Given the description of an element on the screen output the (x, y) to click on. 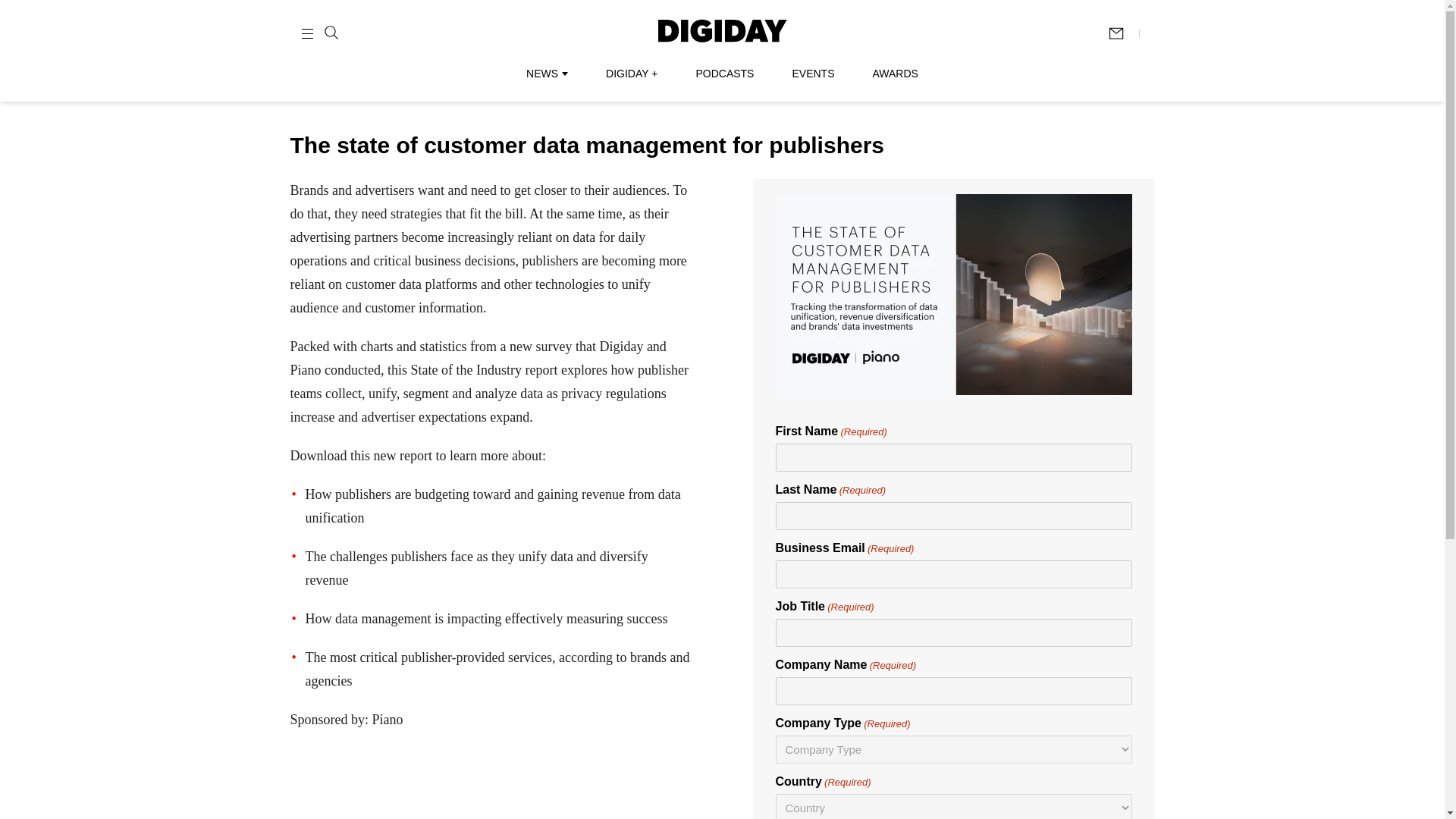
AWARDS (894, 72)
PODCASTS (725, 72)
EVENTS (813, 72)
Subscribe (1123, 33)
NEWS (546, 72)
